Given the description of an element on the screen output the (x, y) to click on. 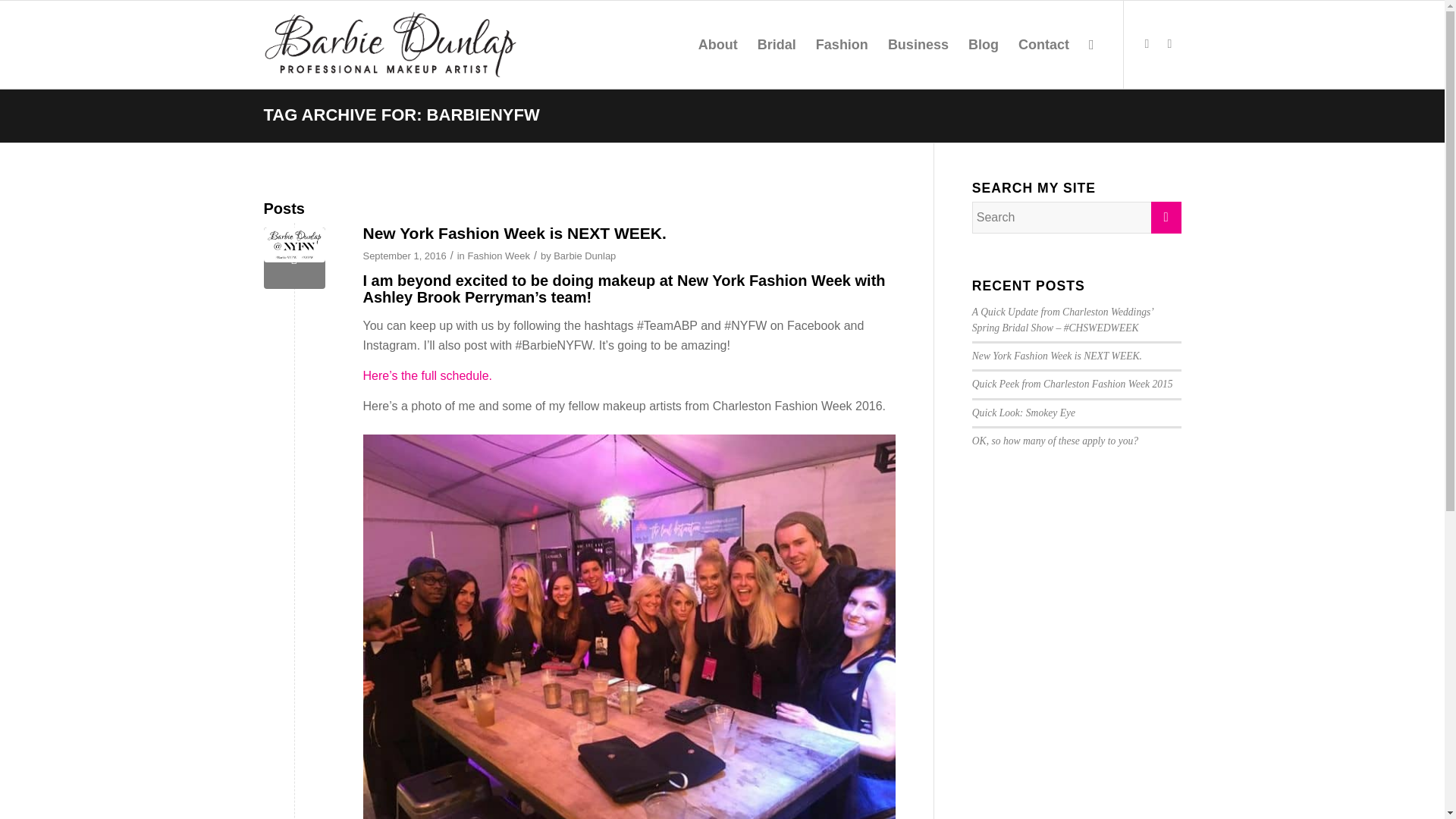
barbie-dunlap-web-logo-800 (390, 44)
New York Fashion Week (763, 280)
Business (917, 44)
TAG ARCHIVE FOR: BARBIENYFW (401, 114)
Quick Look: Smokey Eye (1023, 412)
Instagram (1146, 43)
OK, so how many of these apply to you? (1055, 440)
Permanent Link: Tag Archive for: BarbieNYFW (401, 114)
Barbie Dunlap (584, 255)
Permanent Link: New York Fashion Week is NEXT WEEK. (513, 232)
